Given the description of an element on the screen output the (x, y) to click on. 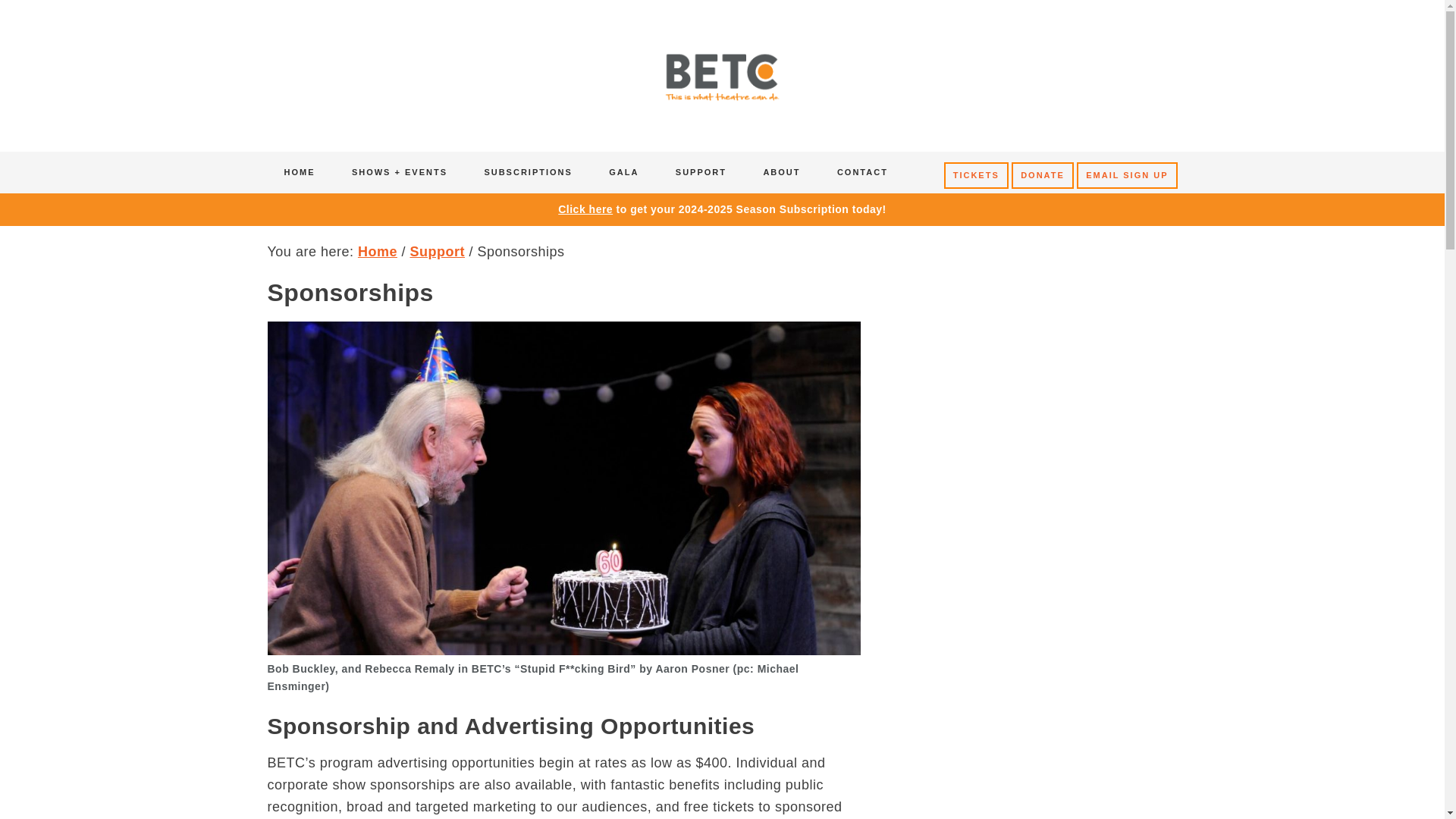
HOME (298, 172)
TICKETS (976, 175)
ABOUT (780, 172)
Click here (584, 209)
CONTACT (862, 172)
DONATE (1042, 175)
SUPPORT (700, 172)
GALA (623, 172)
SUBSCRIPTIONS (527, 172)
EMAIL SIGN UP (1126, 175)
